Given the description of an element on the screen output the (x, y) to click on. 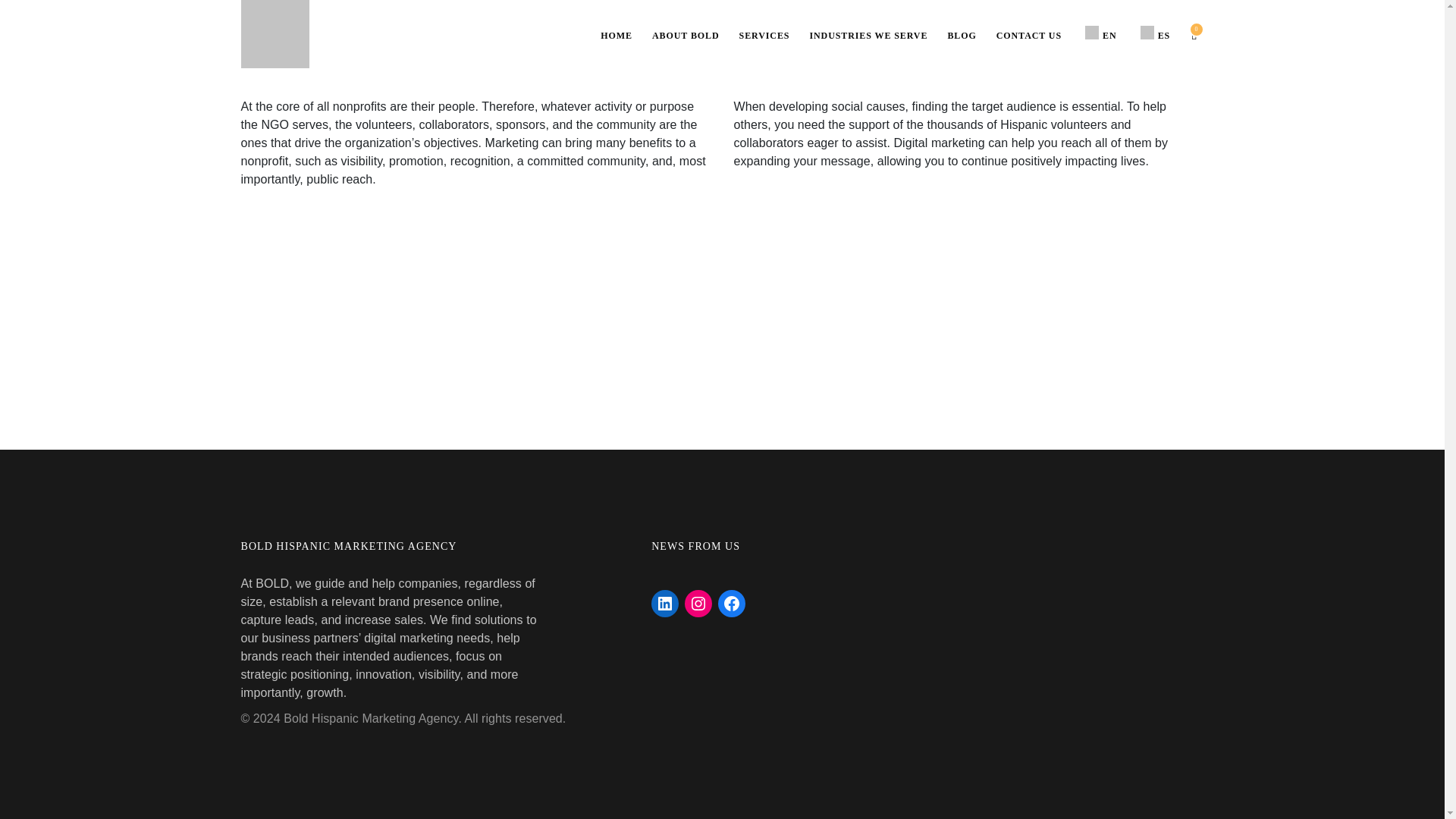
ABOUT BOLD (685, 34)
CONTACT US (1029, 34)
INDUSTRIES WE SERVE (868, 34)
SERVICES (764, 34)
EN (1098, 33)
English (1091, 32)
Spanish (1147, 32)
